Given the description of an element on the screen output the (x, y) to click on. 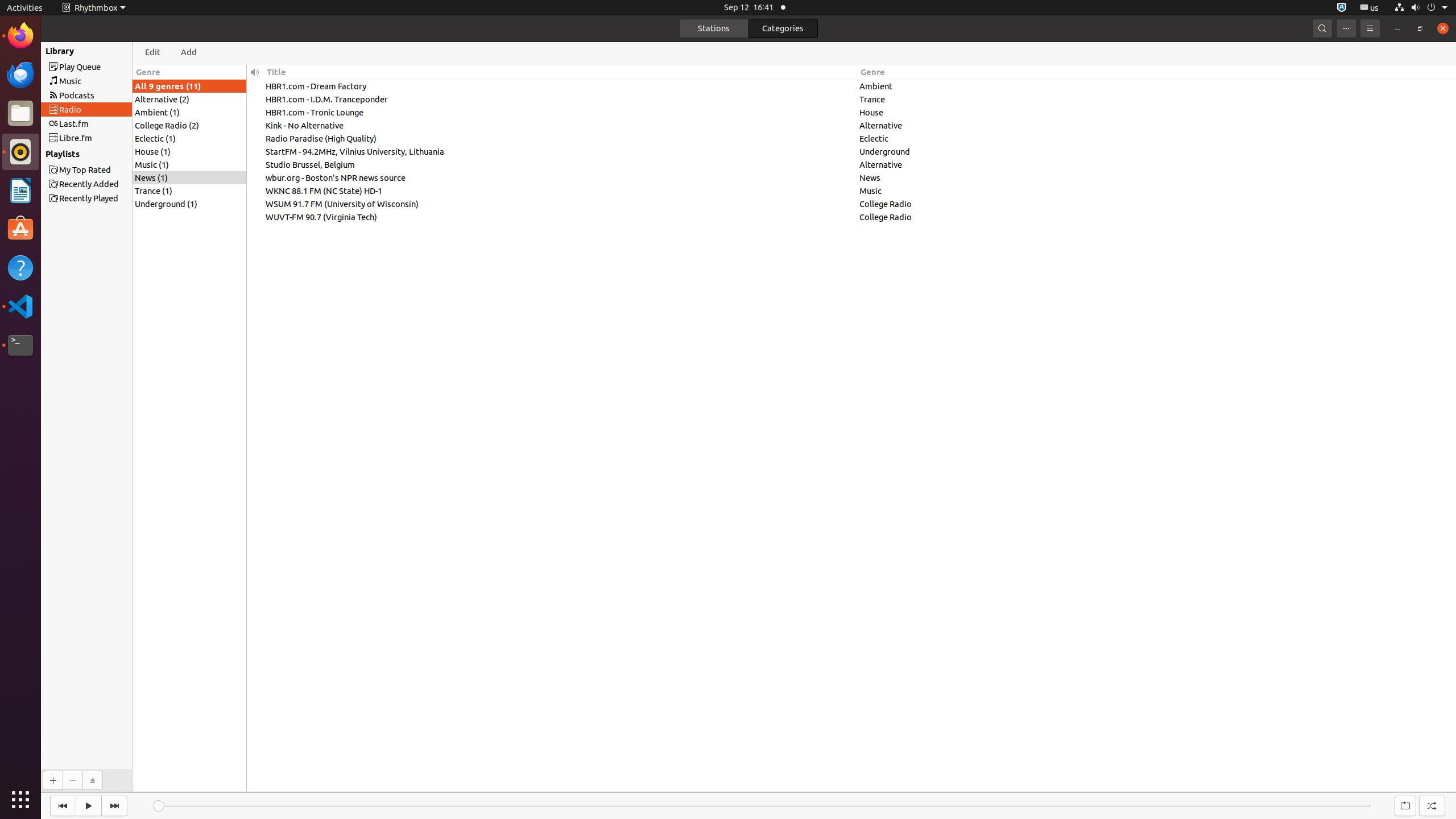
Remove Element type: push-button (72, 779)
Eclectic Element type: table-cell (1156, 138)
wbur.org - Boston's NPR news source Element type: table-cell (559, 177)
Music (1) Element type: table-cell (189, 164)
College Radio Element type: table-cell (1156, 203)
